Given the description of an element on the screen output the (x, y) to click on. 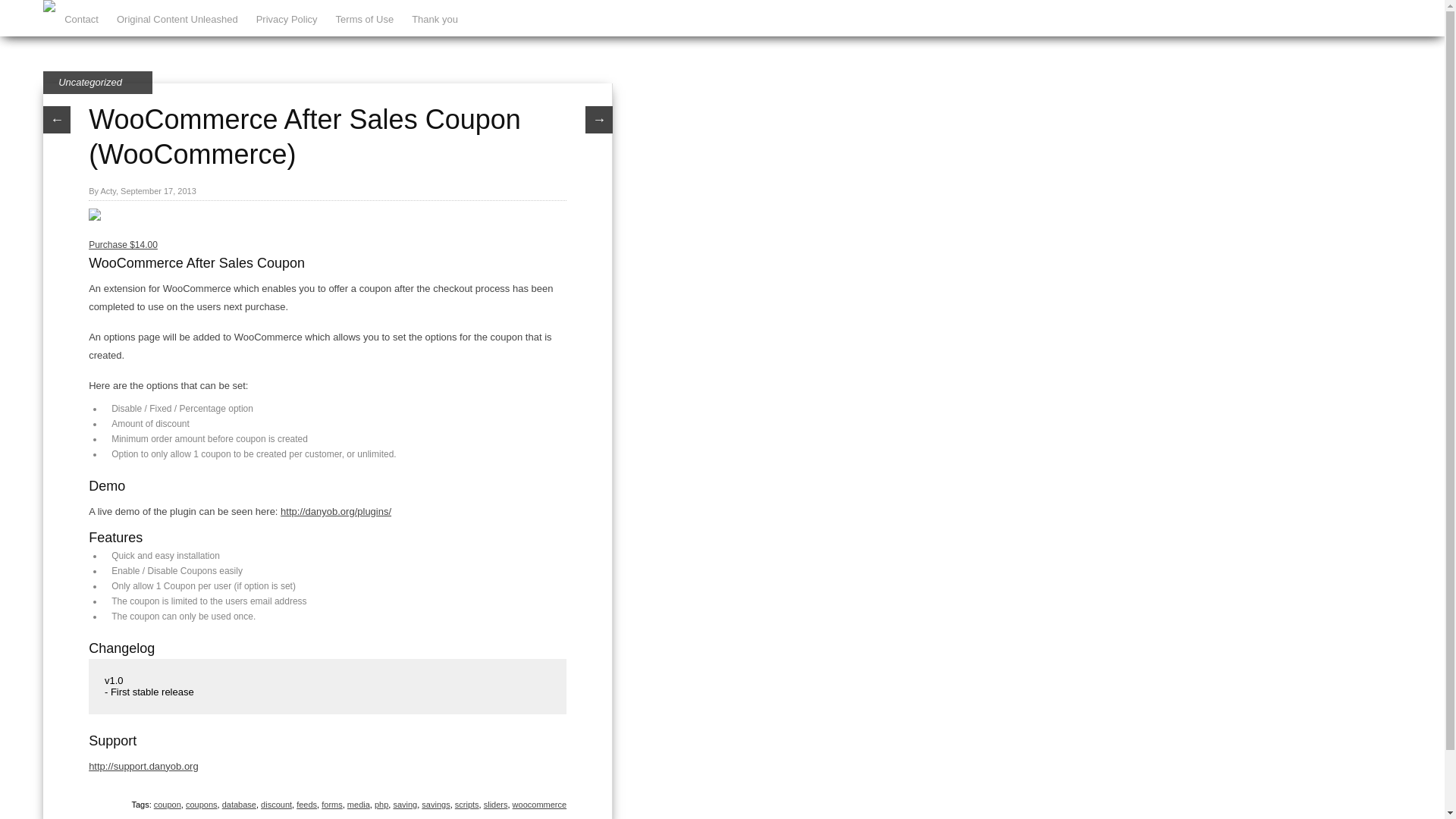
coupons (201, 804)
feeds (307, 804)
forms (331, 804)
scripts (466, 804)
coupon (167, 804)
Privacy Policy (286, 19)
Terms of Use (365, 19)
discount (276, 804)
savings (435, 804)
Thank you (435, 19)
database (239, 804)
media (358, 804)
Original Content Unleashed (177, 19)
saving (404, 804)
php (381, 804)
